Given the description of an element on the screen output the (x, y) to click on. 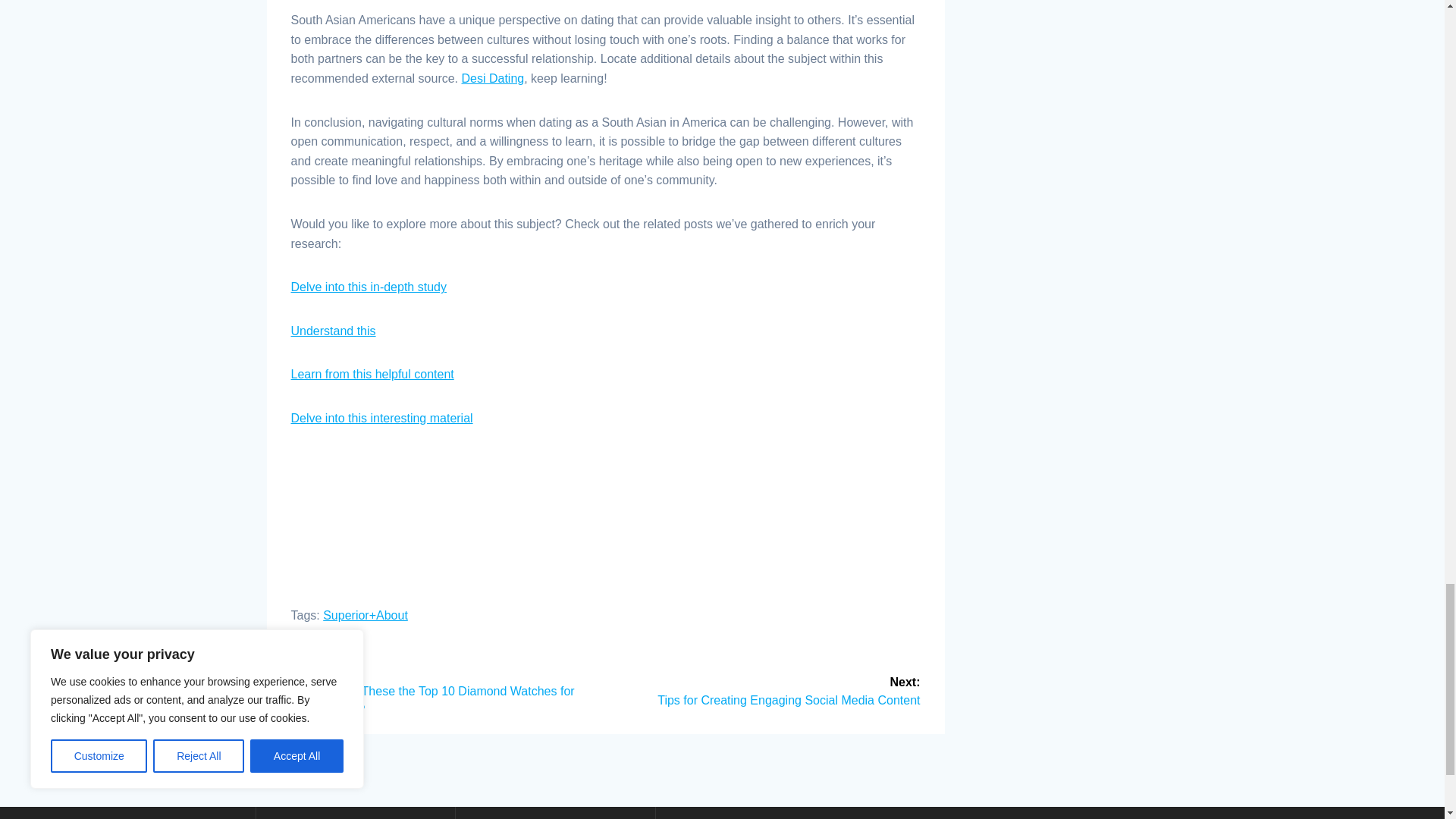
Learn from this helpful content (372, 373)
Delve into this in-depth study (368, 286)
Delve into this interesting material (382, 418)
Desi Dating (492, 78)
Understand this (333, 330)
